Given the description of an element on the screen output the (x, y) to click on. 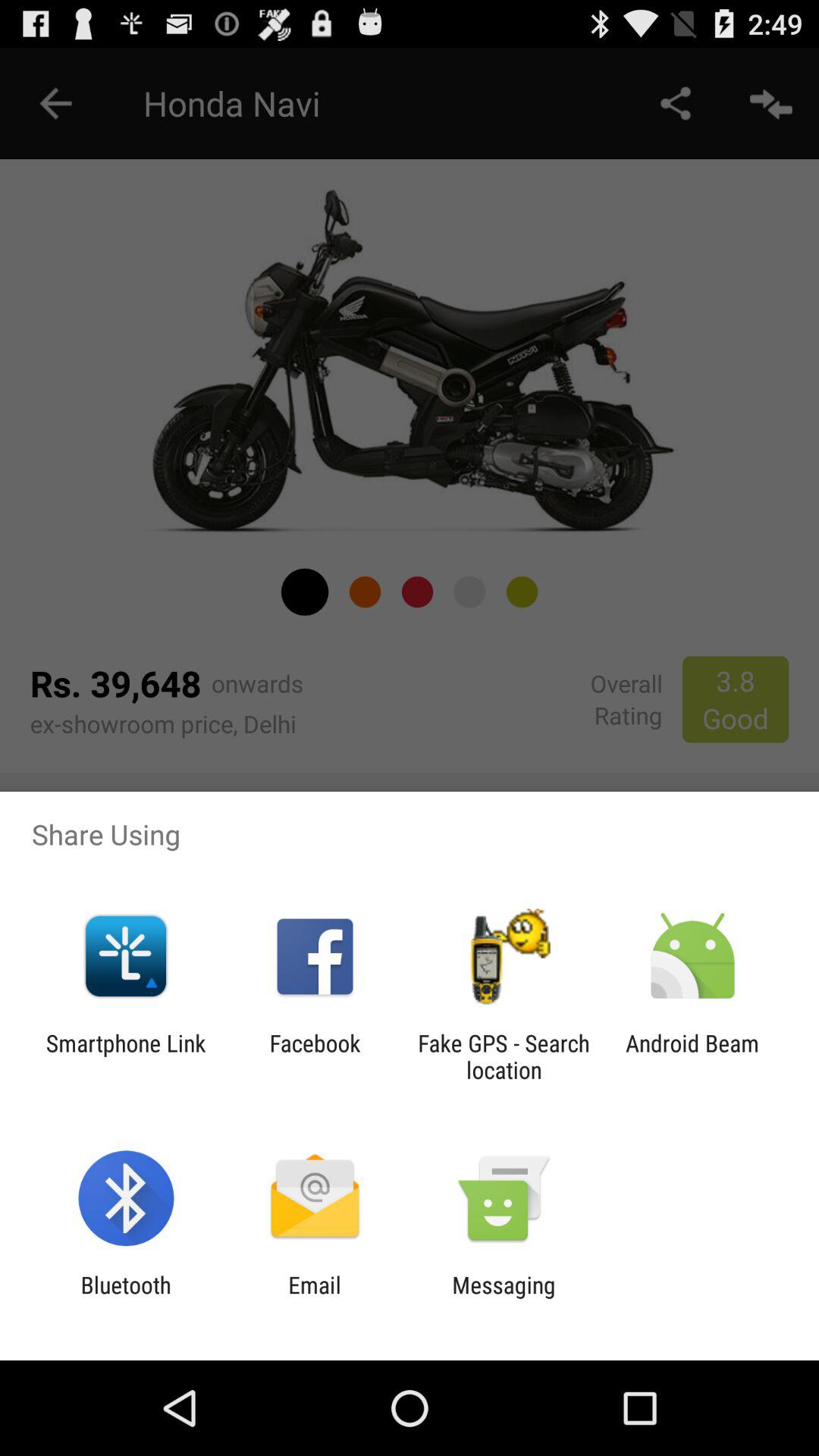
tap the icon at the bottom right corner (692, 1056)
